Given the description of an element on the screen output the (x, y) to click on. 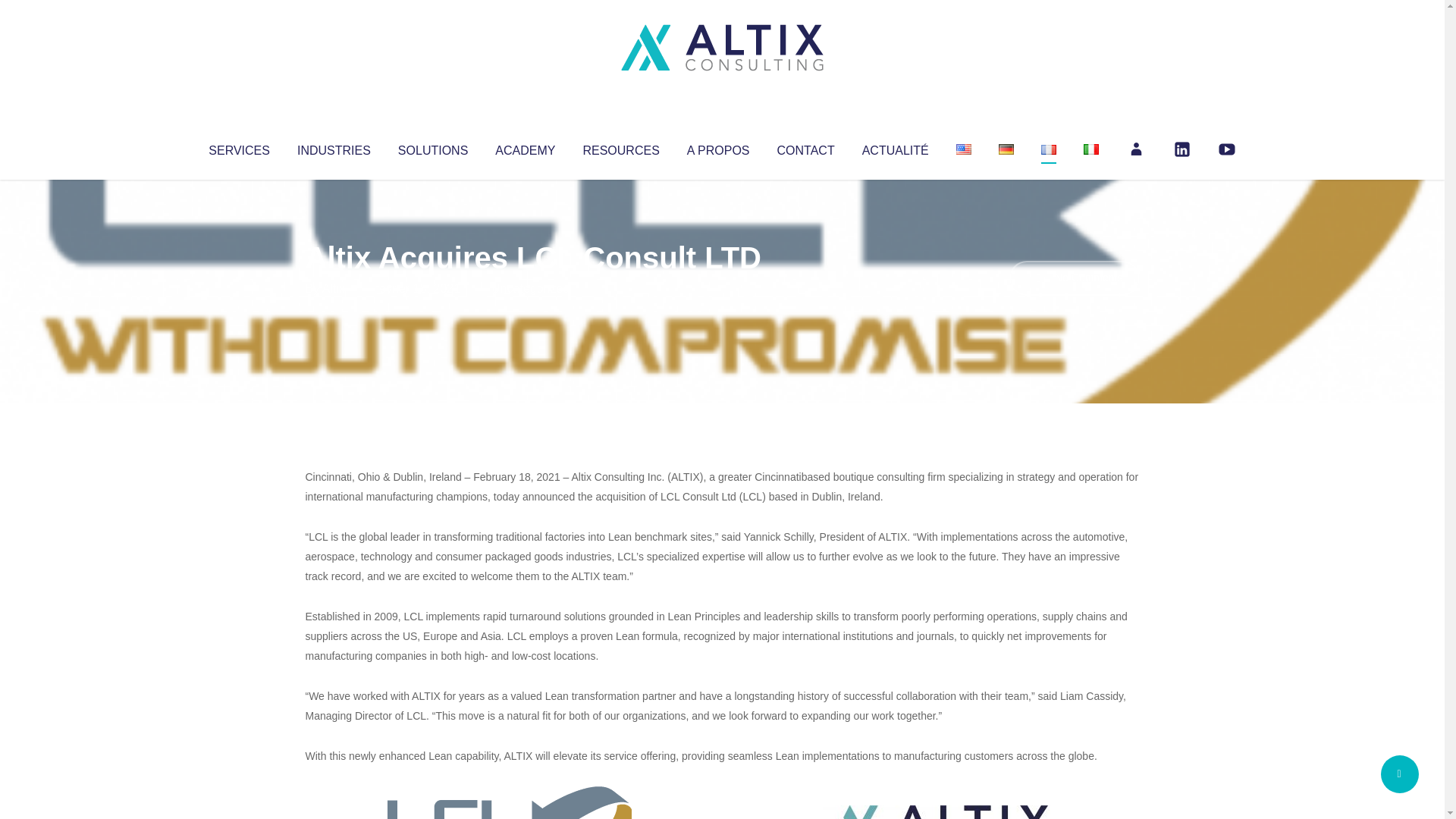
SOLUTIONS (432, 146)
A PROPOS (718, 146)
ACADEMY (524, 146)
RESOURCES (620, 146)
No Comments (1073, 278)
INDUSTRIES (334, 146)
Altix (333, 287)
Uncategorized (530, 287)
Articles par Altix (333, 287)
SERVICES (238, 146)
